Given the description of an element on the screen output the (x, y) to click on. 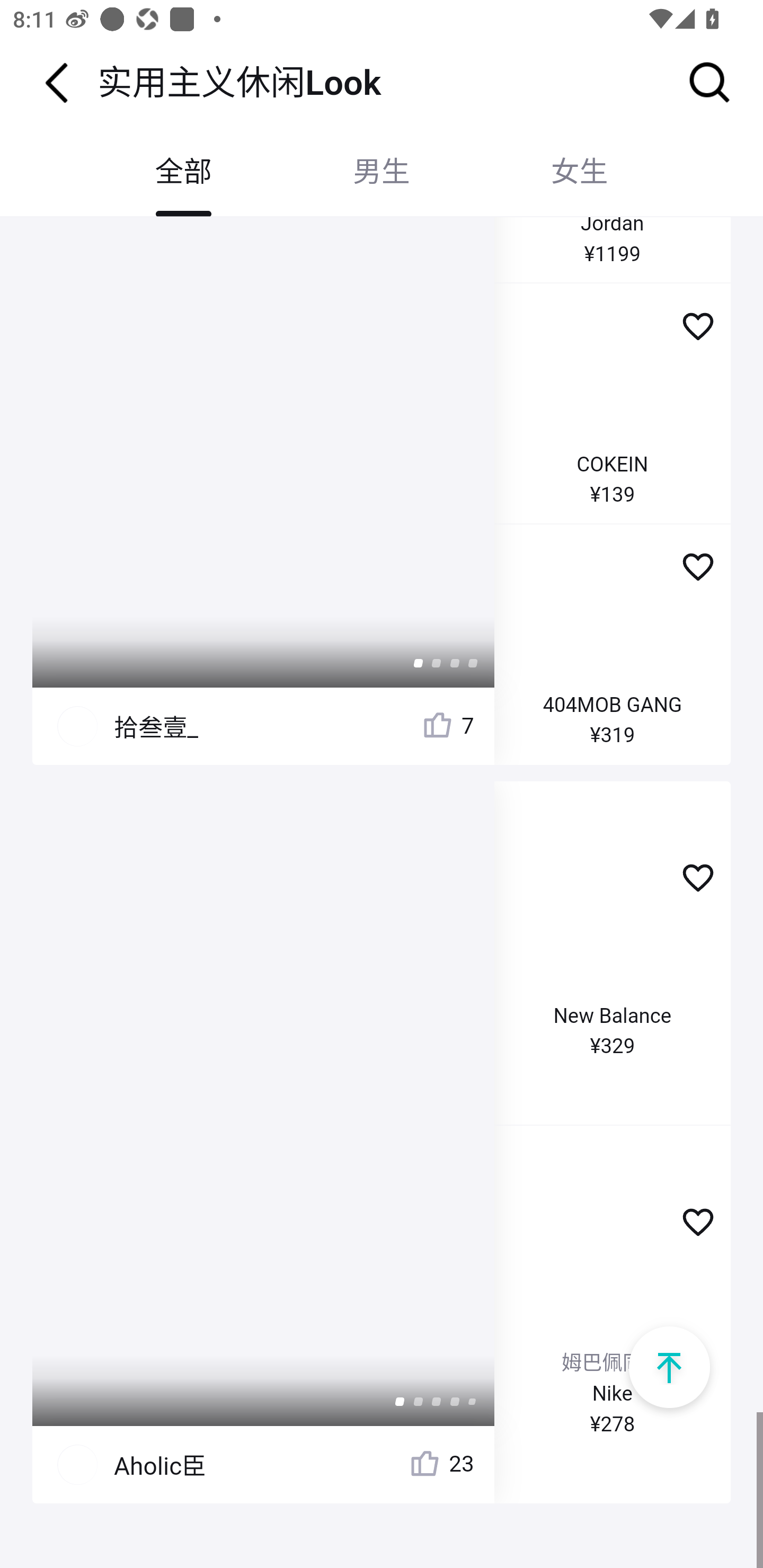
全部 (183, 172)
男生 (381, 172)
女生 (579, 172)
6D55FA48-FAD7-451B-BF60-91C611CA9B14@1x (668, 1366)
